Given the description of an element on the screen output the (x, y) to click on. 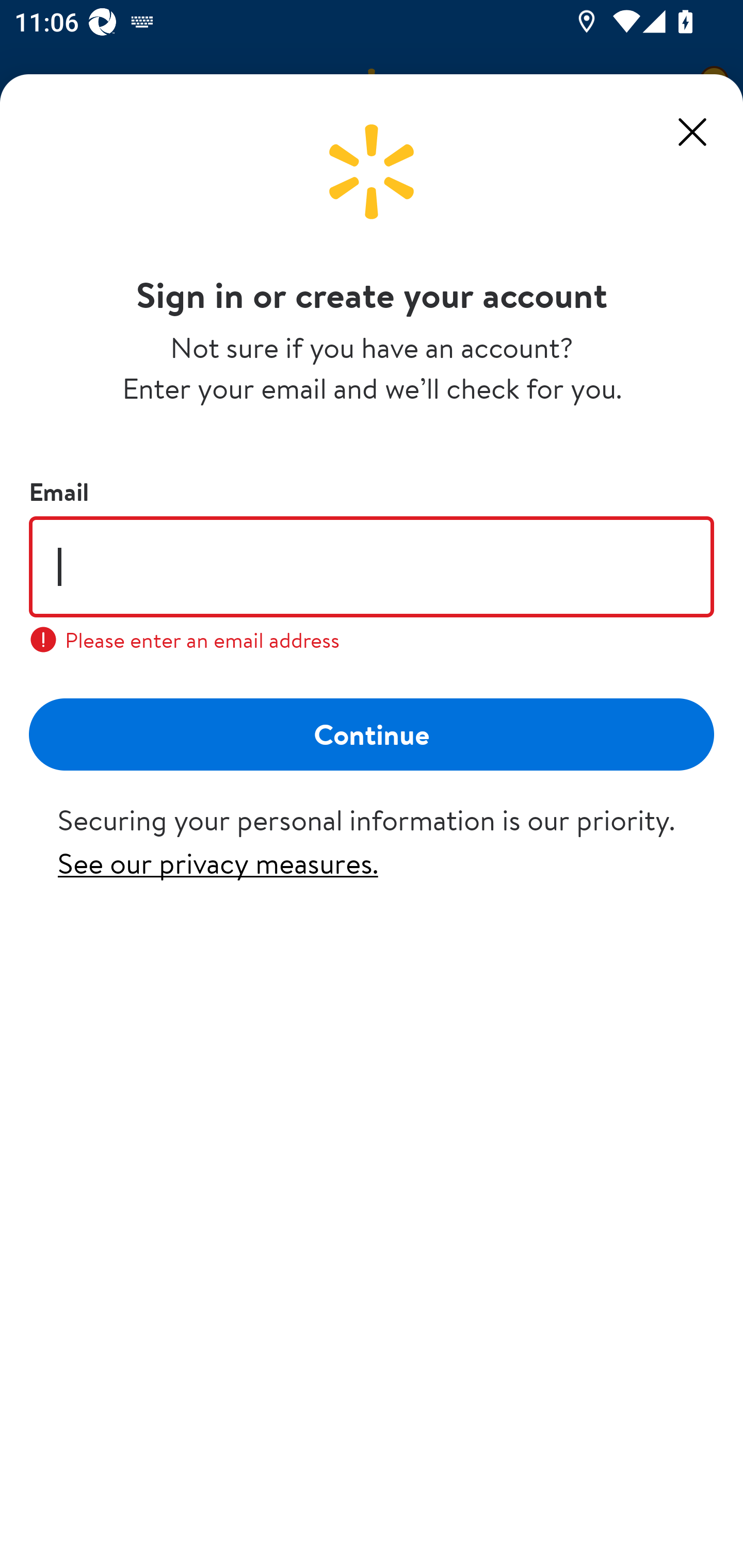
Close (692, 131)
Email (371, 566)
Continue (371, 733)
